Given the description of an element on the screen output the (x, y) to click on. 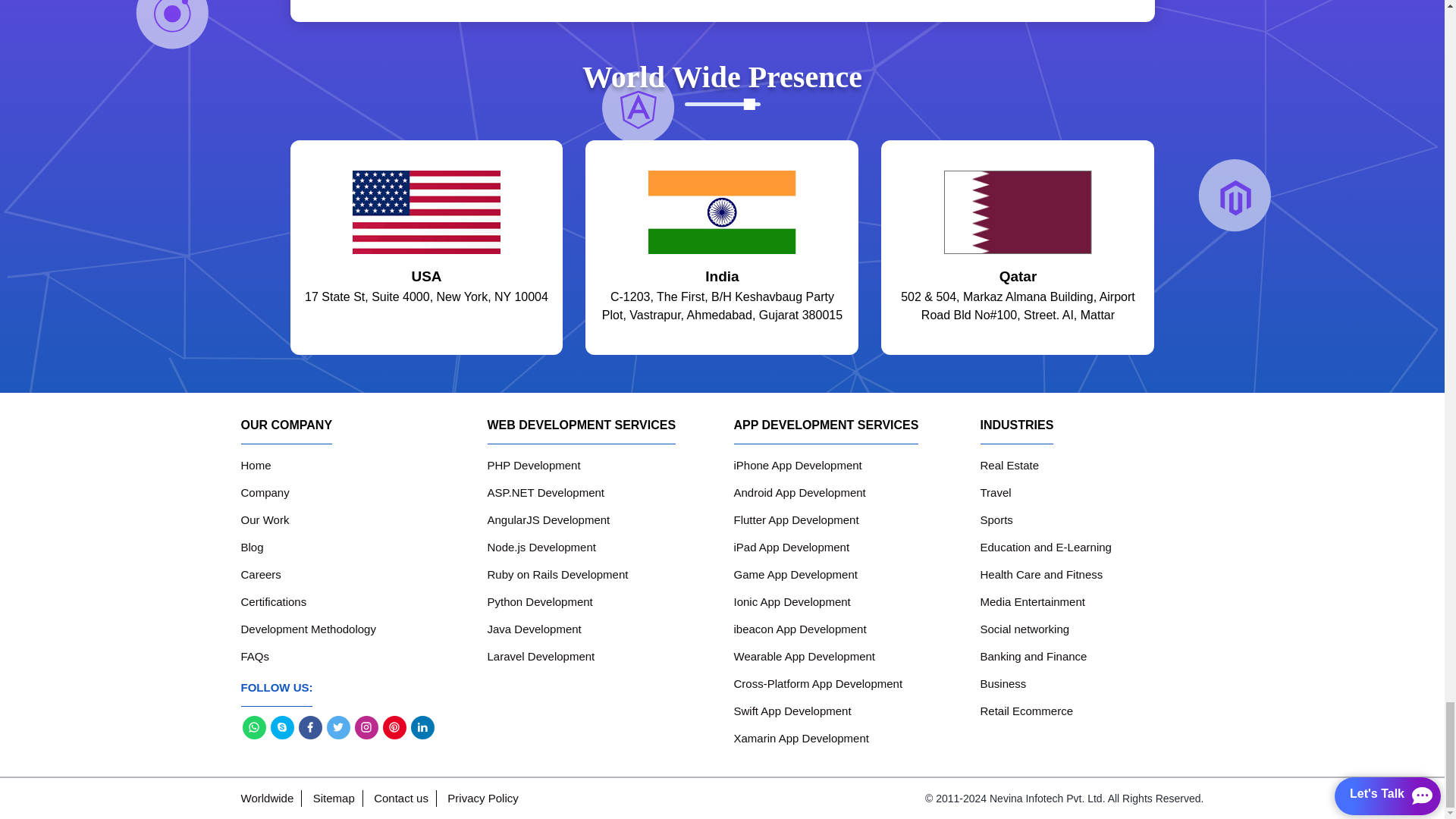
Twitter (337, 726)
Instagram (366, 726)
Whatsapp (254, 726)
skype (281, 726)
Facebook (310, 726)
Pinterest (393, 726)
Linkedin (422, 726)
